Given the description of an element on the screen output the (x, y) to click on. 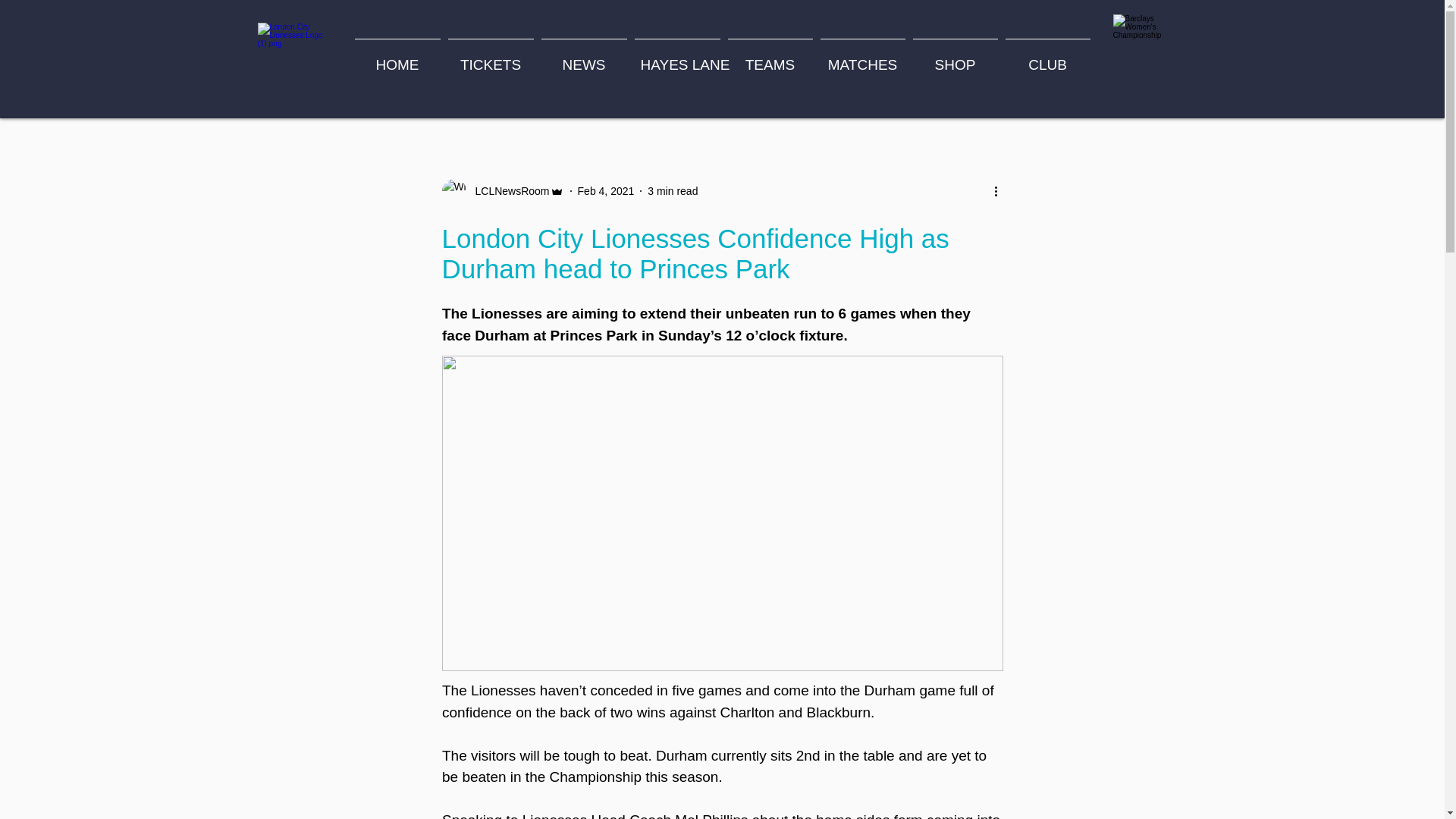
NEWS (583, 57)
Feb 4, 2021 (606, 191)
HOME (397, 57)
TICKETS (490, 57)
LCLNewsRoom (502, 191)
LCLNewsRoom (506, 191)
3 min read (672, 191)
